Given the description of an element on the screen output the (x, y) to click on. 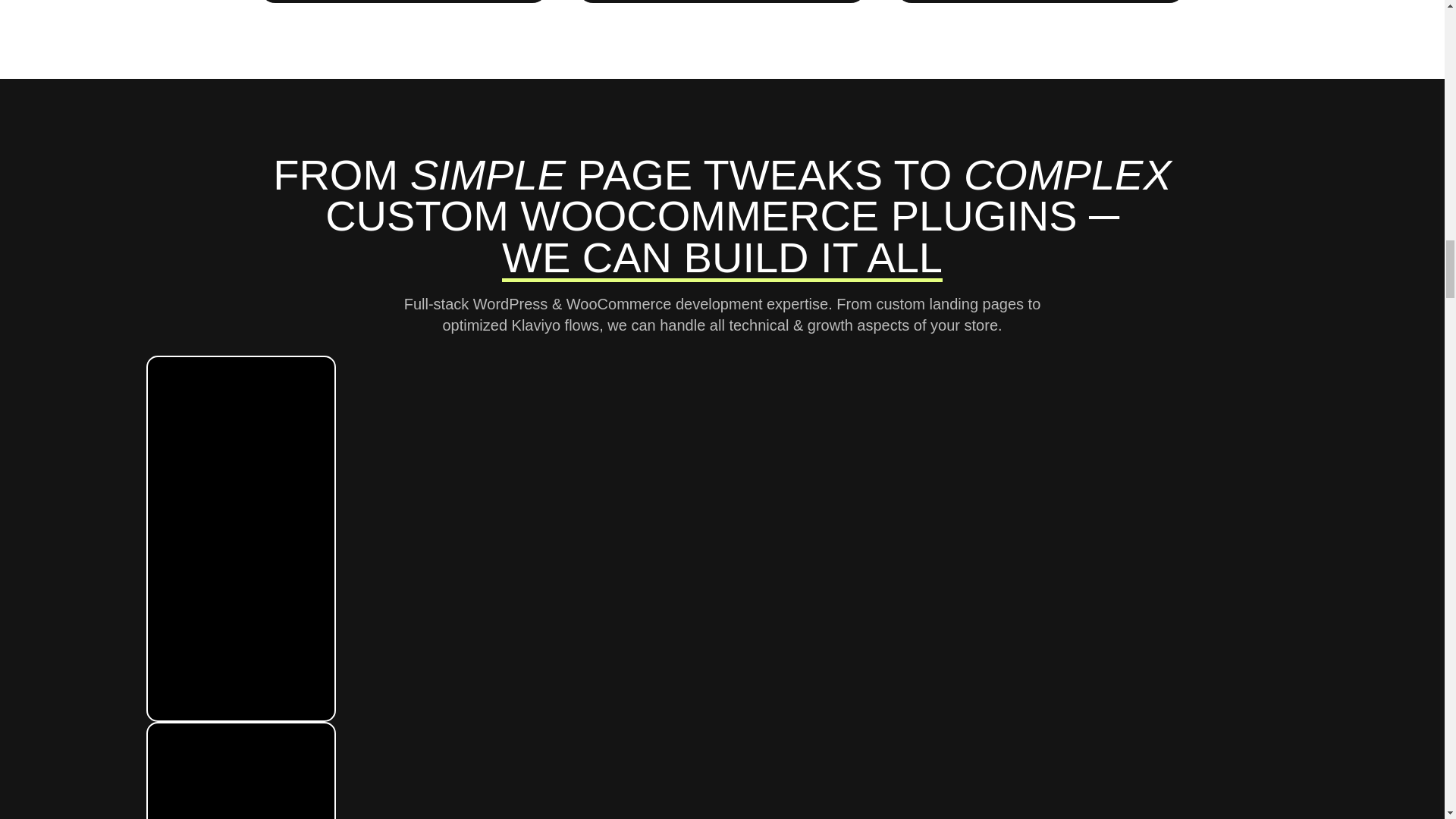
Starter Box LP - London Nootropics (240, 771)
